Given the description of an element on the screen output the (x, y) to click on. 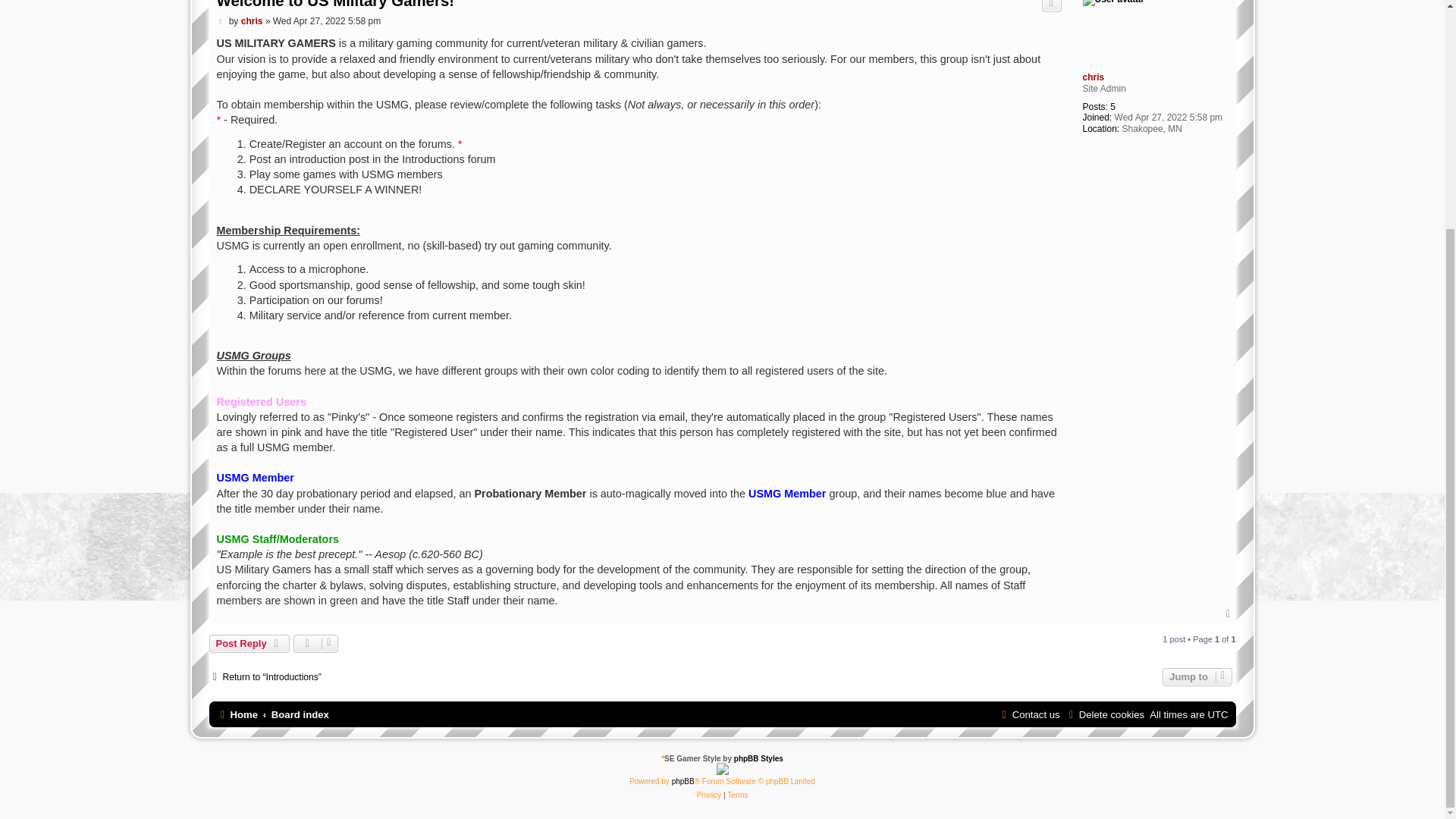
Quote (1051, 6)
Post (221, 20)
Reply with quote (1051, 6)
Welcome to US Military Gamers! (335, 5)
Post (221, 20)
Top (1229, 614)
Post Reply (249, 643)
chris (1094, 77)
chris (252, 20)
Top (1229, 614)
Post a reply (249, 643)
